Given the description of an element on the screen output the (x, y) to click on. 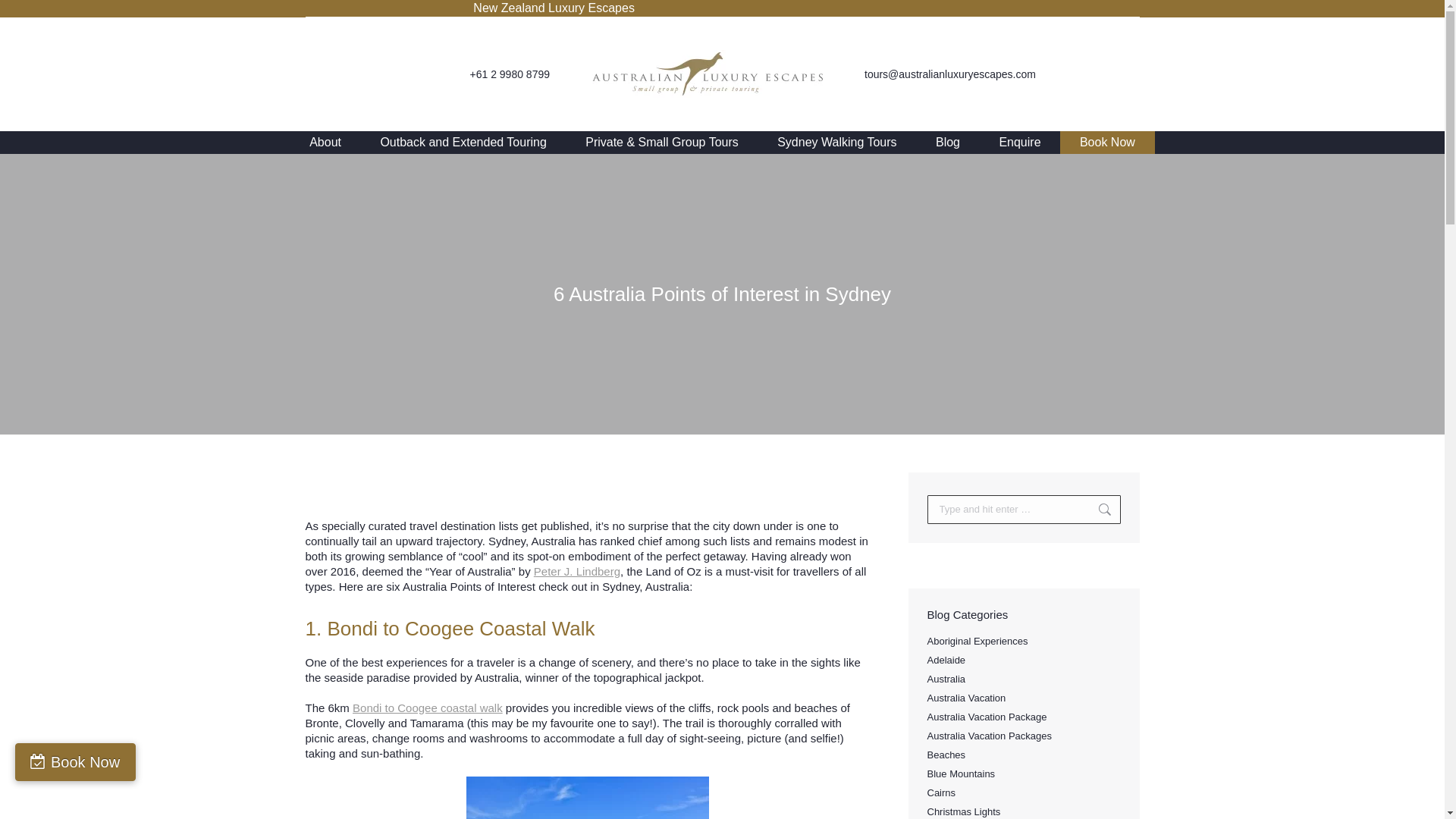
Enquire (1020, 142)
New Zealand Luxury Escapes (553, 7)
Blog (946, 142)
Go! (1096, 509)
Book Now (1106, 142)
Outback and Extended Touring (463, 142)
Go! (1096, 509)
Sydney Walking Tours (836, 142)
About (324, 142)
